Given the description of an element on the screen output the (x, y) to click on. 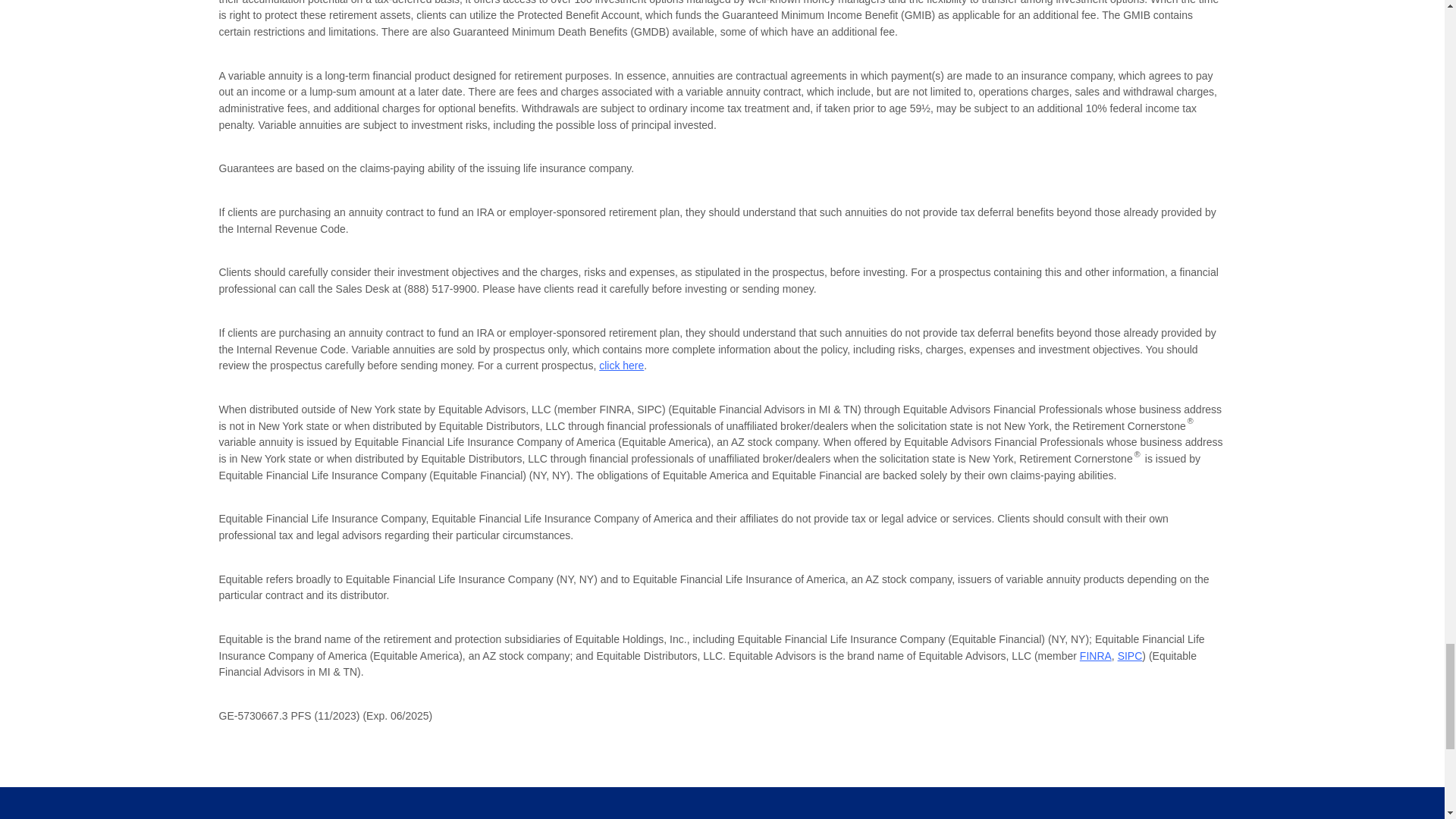
click here (620, 365)
FINRA (1096, 655)
SIPC (1130, 655)
